Given the description of an element on the screen output the (x, y) to click on. 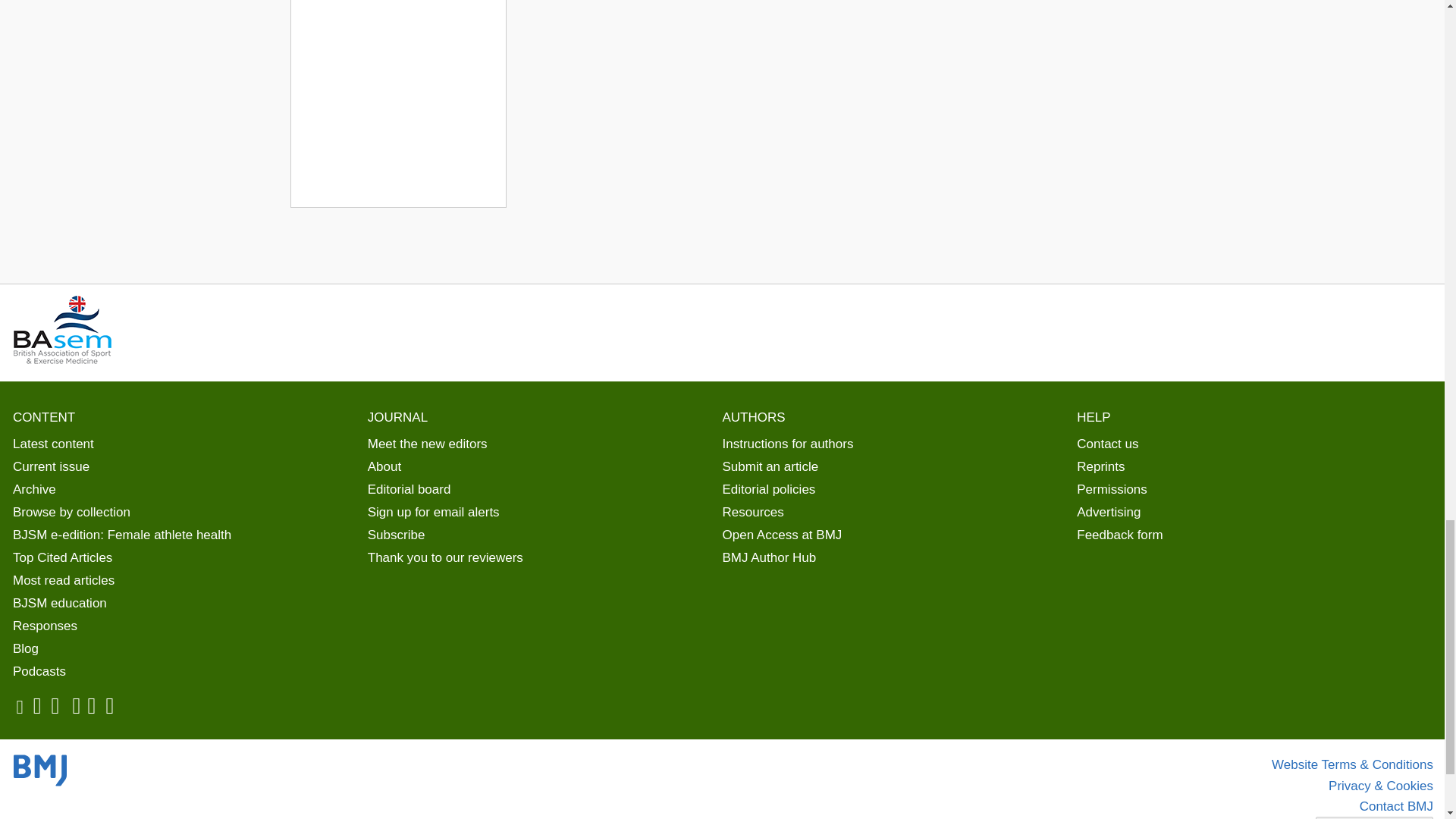
careers widget (397, 104)
